Given the description of an element on the screen output the (x, y) to click on. 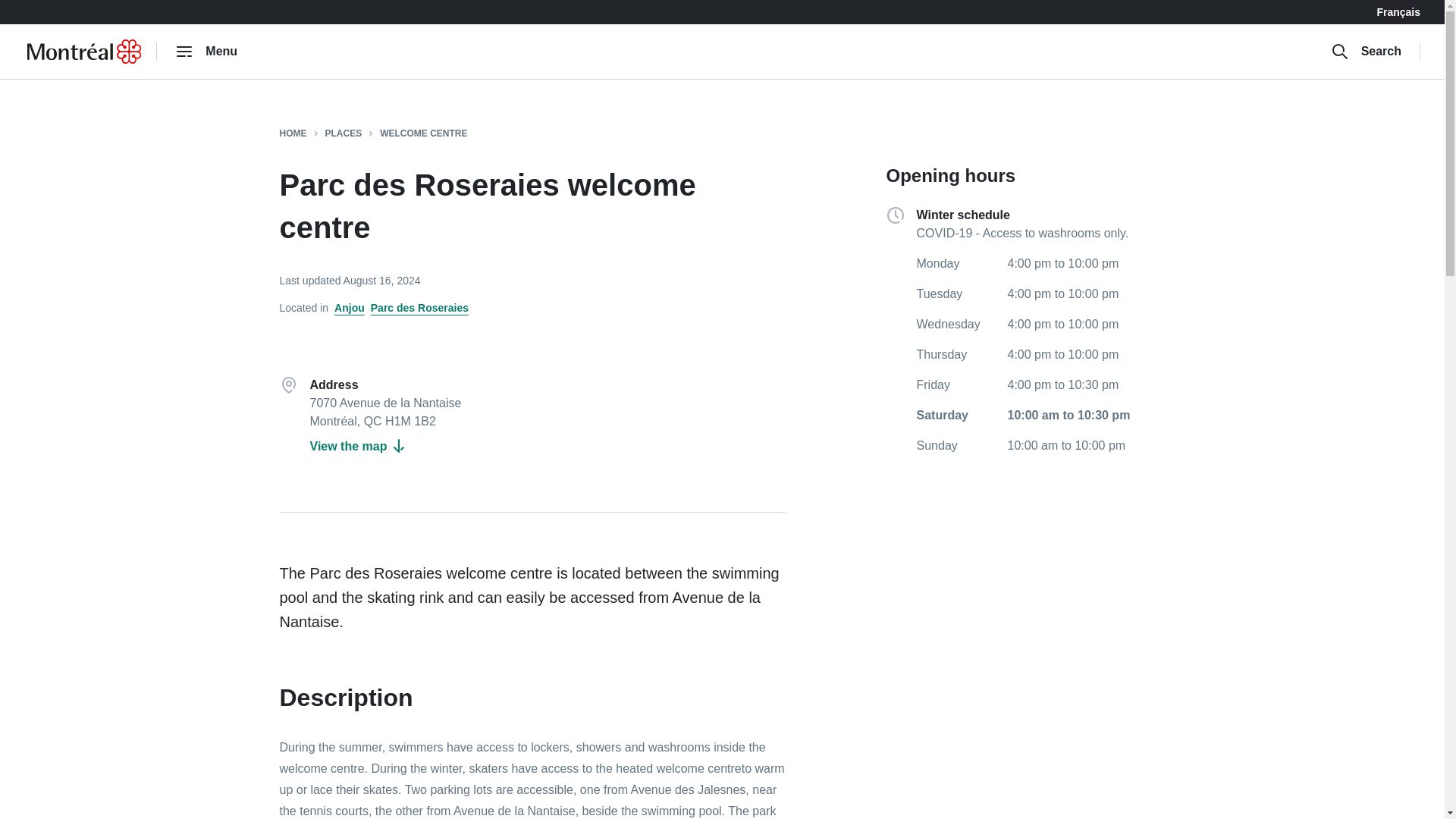
View the map (357, 445)
Go to content (18, 11)
Menu (205, 51)
